Given the description of an element on the screen output the (x, y) to click on. 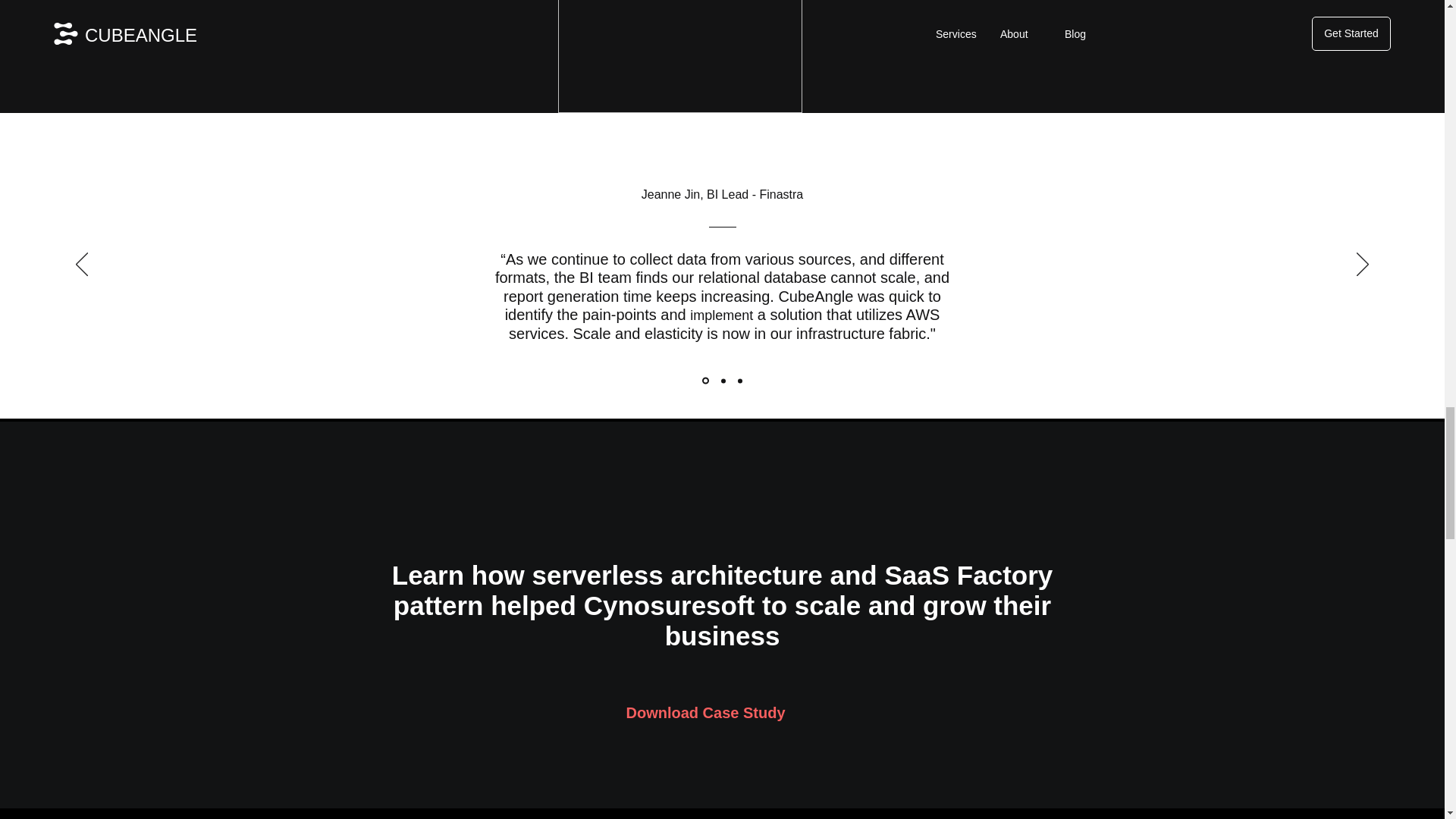
Badge.png (679, 56)
Download Case Study (706, 712)
